Given the description of an element on the screen output the (x, y) to click on. 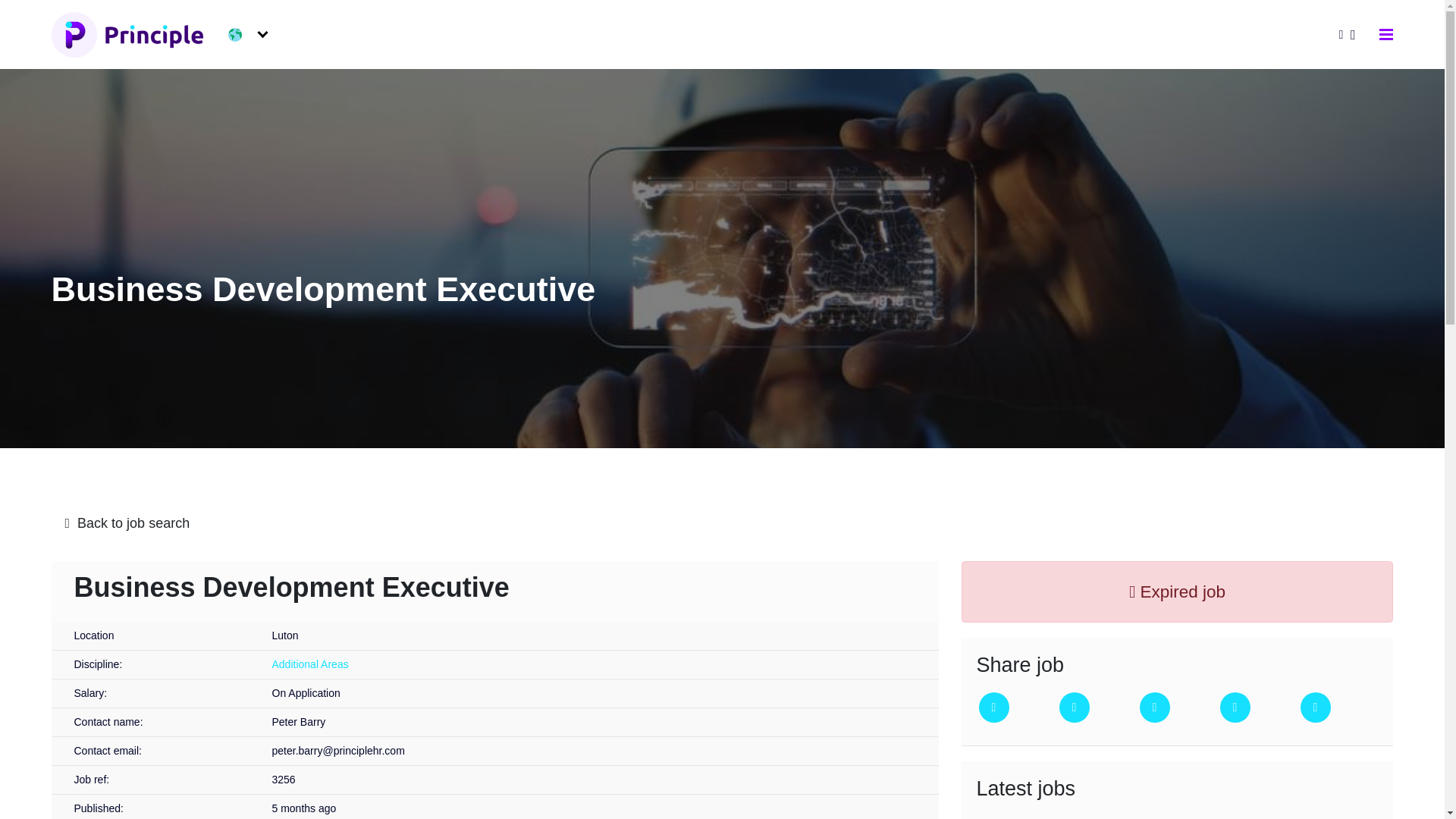
Back to job search (722, 523)
share on Facebook (1073, 707)
Tweet this (993, 707)
send in Whatsapp (1315, 707)
Email (1234, 707)
share on LinkedIn (1153, 707)
Additional Areas (308, 664)
